Given the description of an element on the screen output the (x, y) to click on. 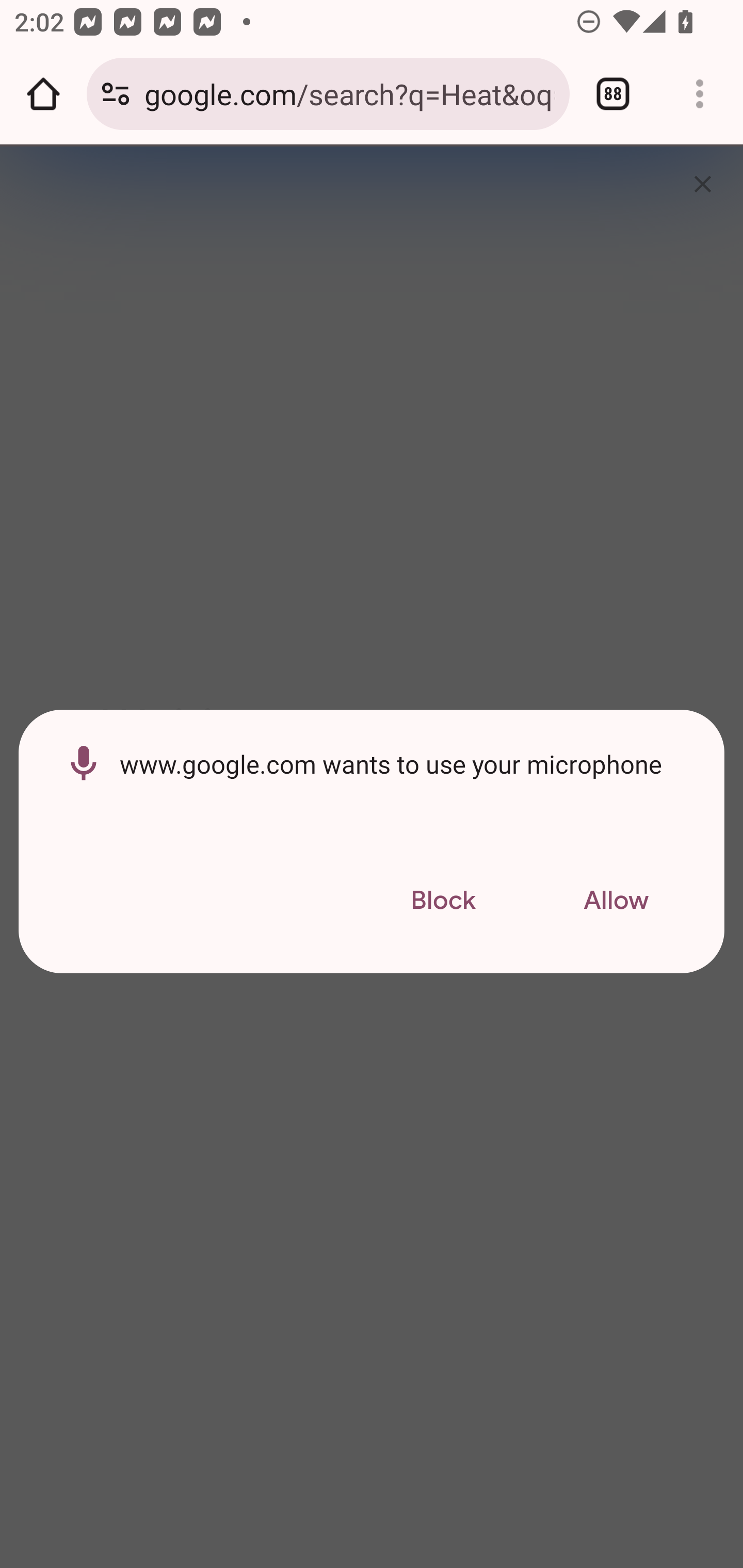
Open the home page (43, 93)
Connection is secure (115, 93)
Switch or close tabs (612, 93)
Customize and control Google Chrome (699, 93)
Block (442, 900)
Allow (615, 900)
